Given the description of an element on the screen output the (x, y) to click on. 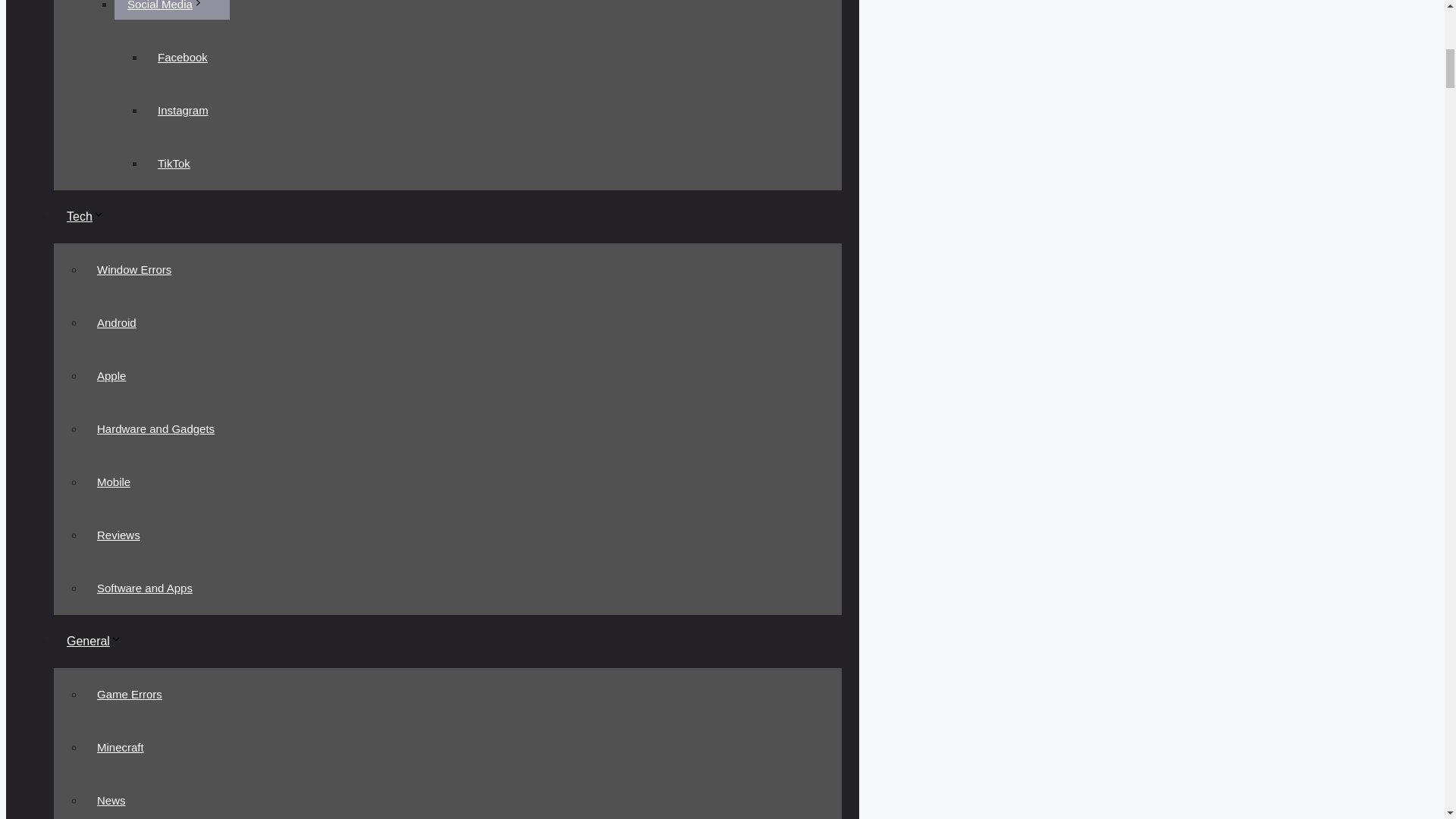
Reviews (118, 534)
Software and Apps (144, 587)
TikTok (173, 163)
Mobile (113, 481)
Scroll back to top (1406, 720)
Minecraft (120, 747)
News (111, 799)
Facebook (182, 56)
Social Media (172, 9)
Instagram (182, 110)
General (100, 640)
Game Errors (129, 694)
Hardware and Gadgets (155, 428)
Window Errors (134, 269)
Android (116, 322)
